Given the description of an element on the screen output the (x, y) to click on. 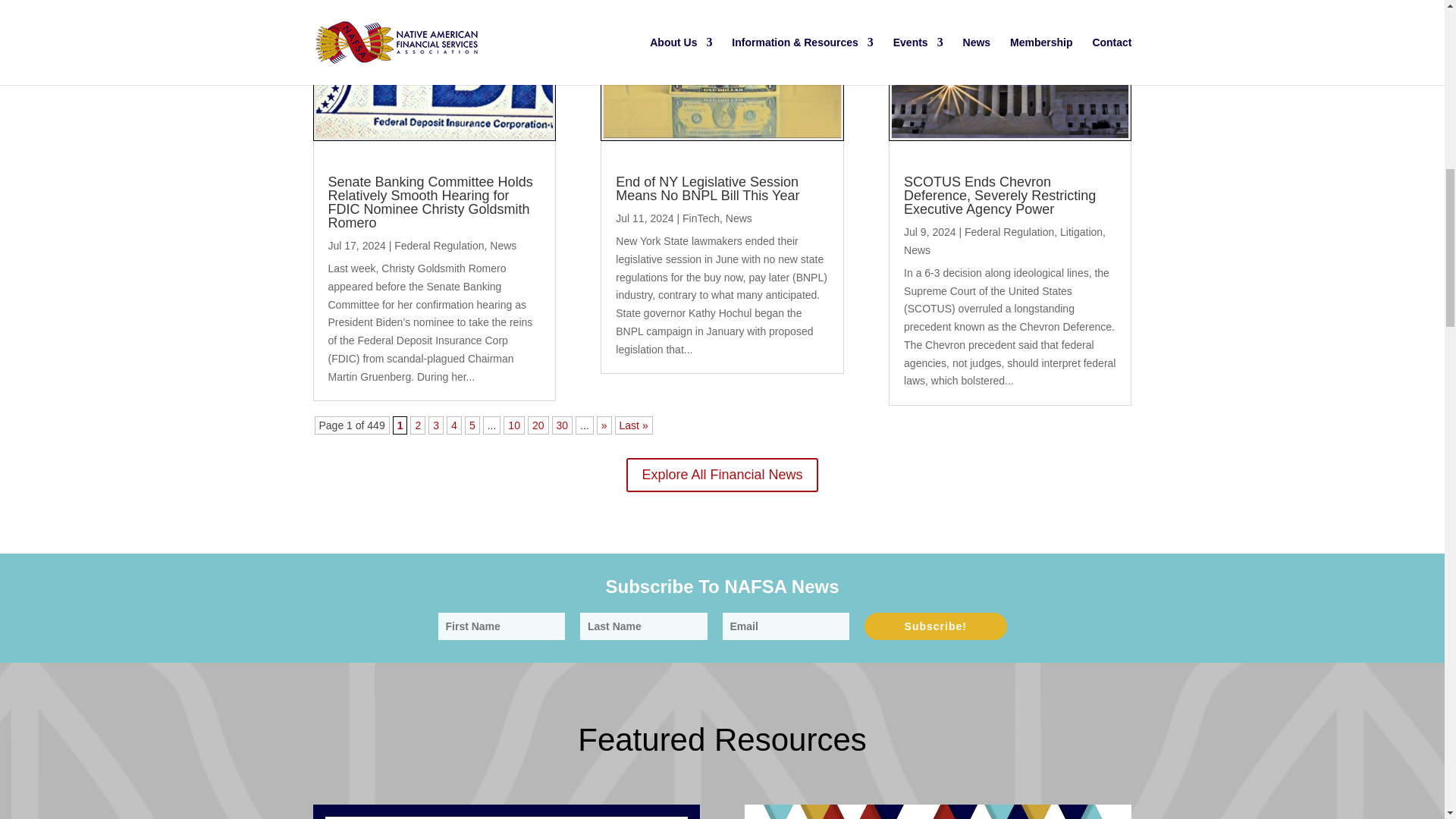
Page 10 (513, 425)
Page 20 (537, 425)
Page 30 (562, 425)
